Given the description of an element on the screen output the (x, y) to click on. 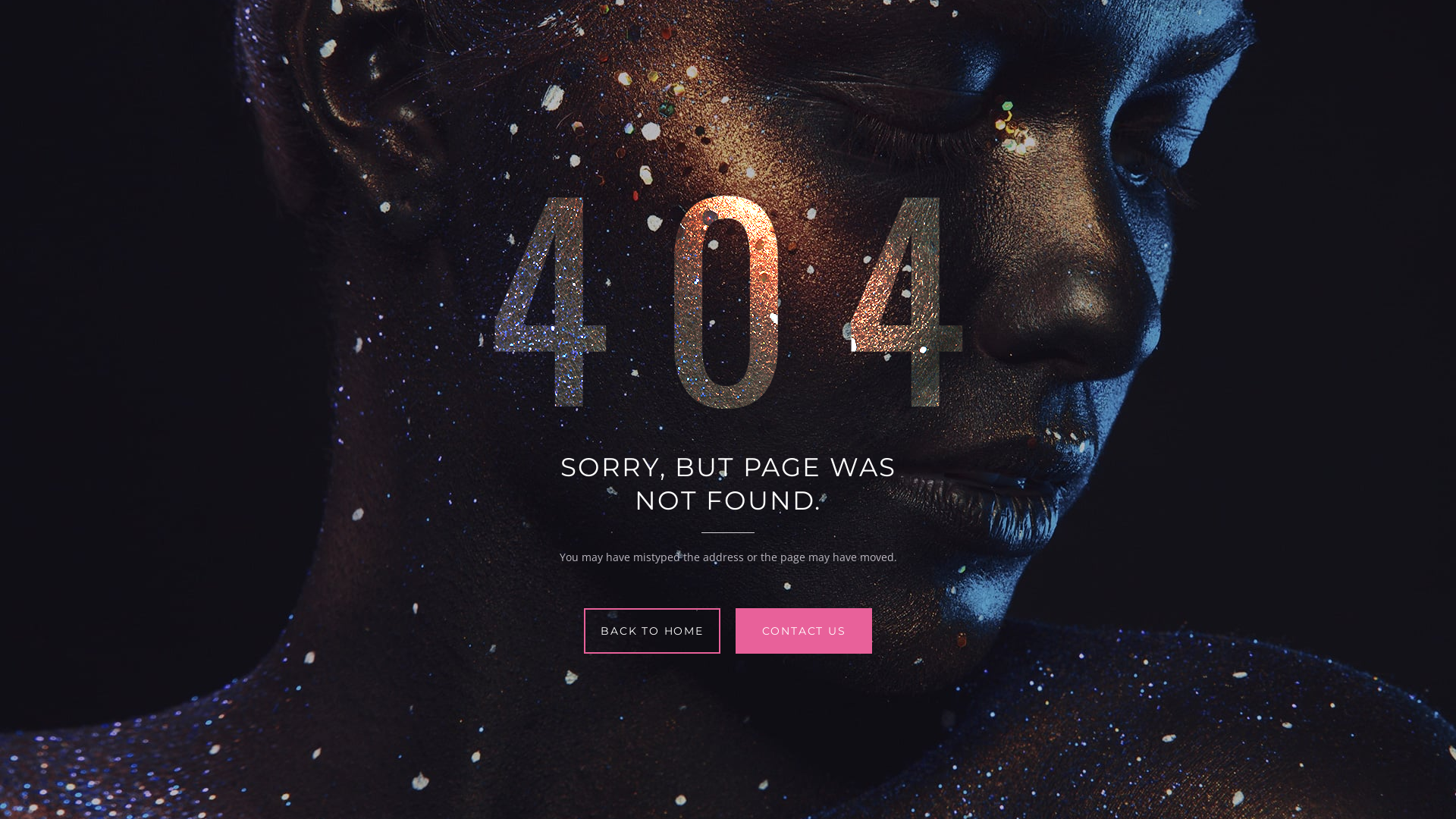
CONTACT US Element type: text (803, 630)
BACK TO HOME Element type: text (651, 630)
